Given the description of an element on the screen output the (x, y) to click on. 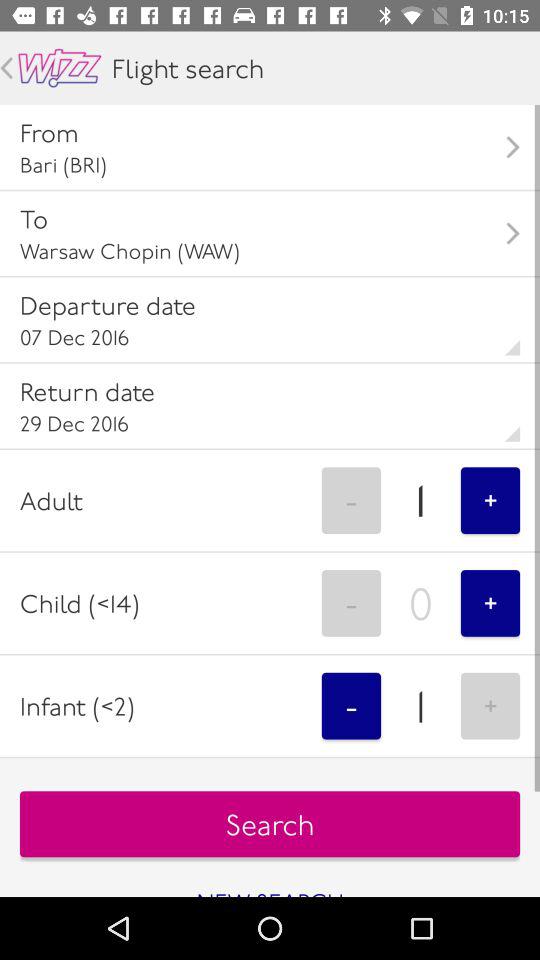
turn on icon next to the 1 item (351, 500)
